Given the description of an element on the screen output the (x, y) to click on. 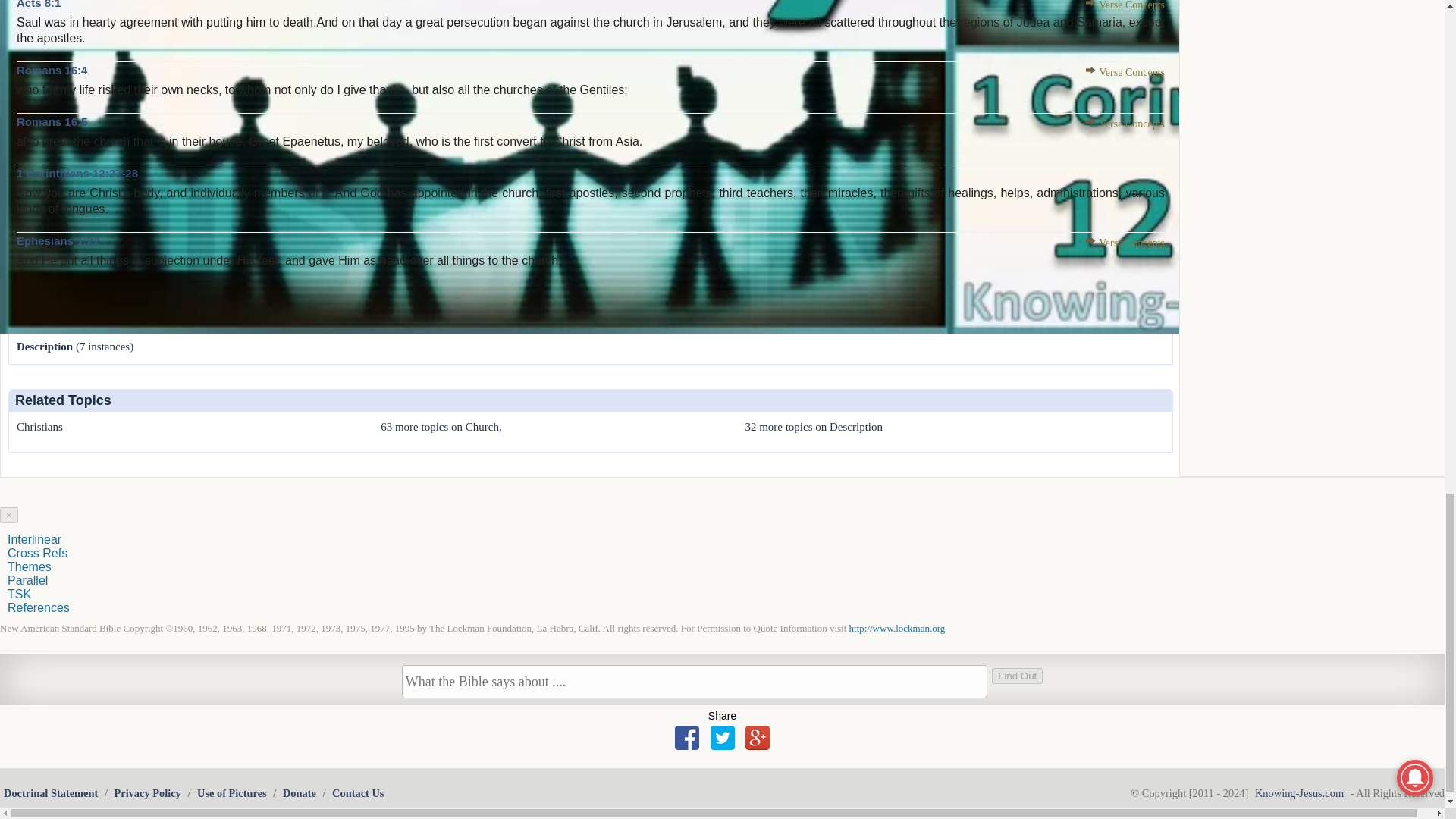
Find Out (1016, 675)
Share with Twitter (721, 737)
Acts 8:1 Verse Concepts (1125, 5)
Share with Facebook (686, 737)
Romans 16:5 Verse Concepts (1125, 123)
Ephesians 1:22 Verse Concepts (1125, 242)
Romans 16:4 Verse Concepts (1125, 71)
